Given the description of an element on the screen output the (x, y) to click on. 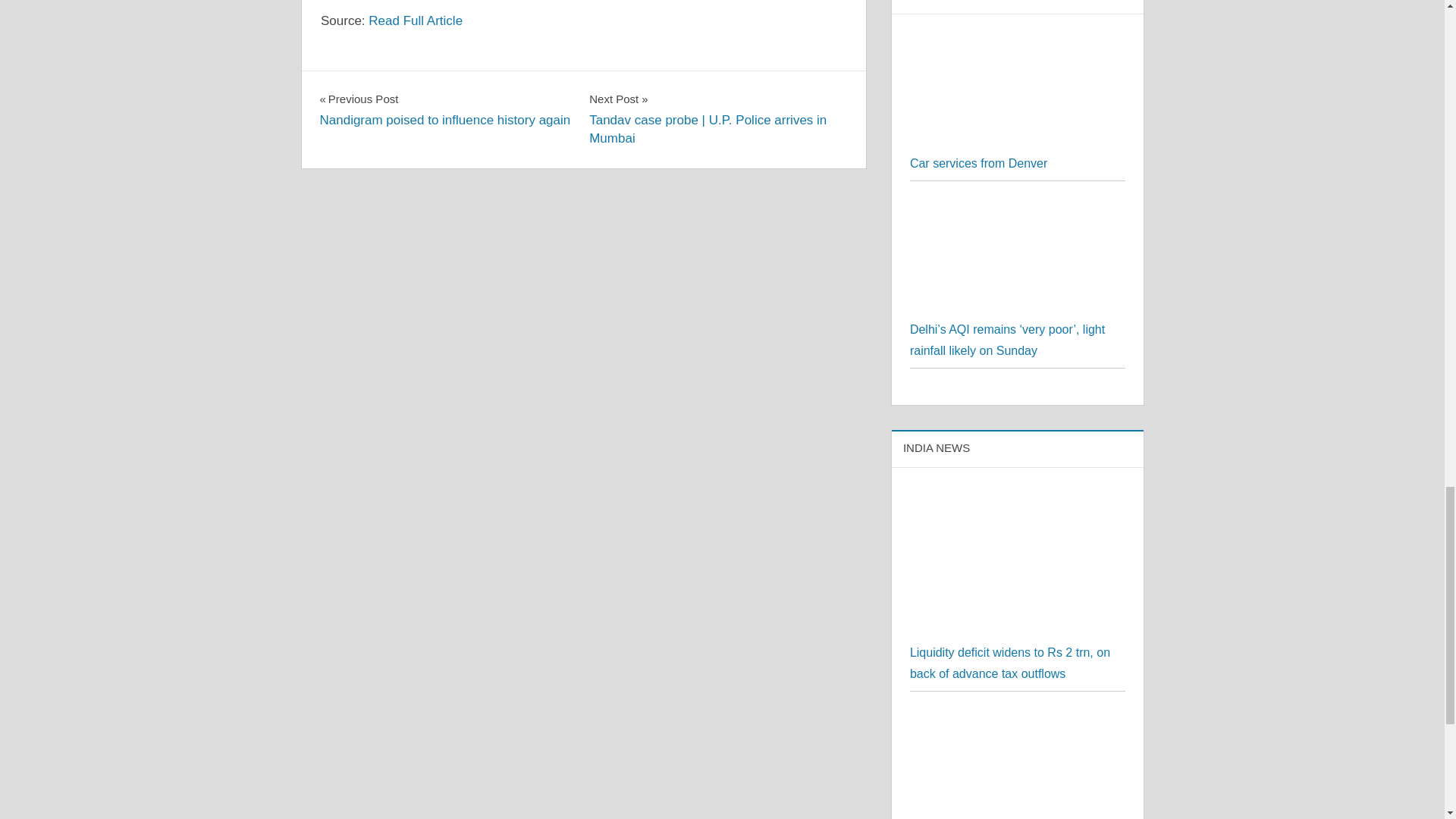
10 Healthy Things Diabetics Should Do in 2024 (445, 335)
Car services from Denver (1015, 113)
INDIA (1017, 367)
Read Full Article (343, 311)
Car services from Denver (415, 246)
10 Healthy Things Diabetics Should Do in 2024 (978, 389)
